Given the description of an element on the screen output the (x, y) to click on. 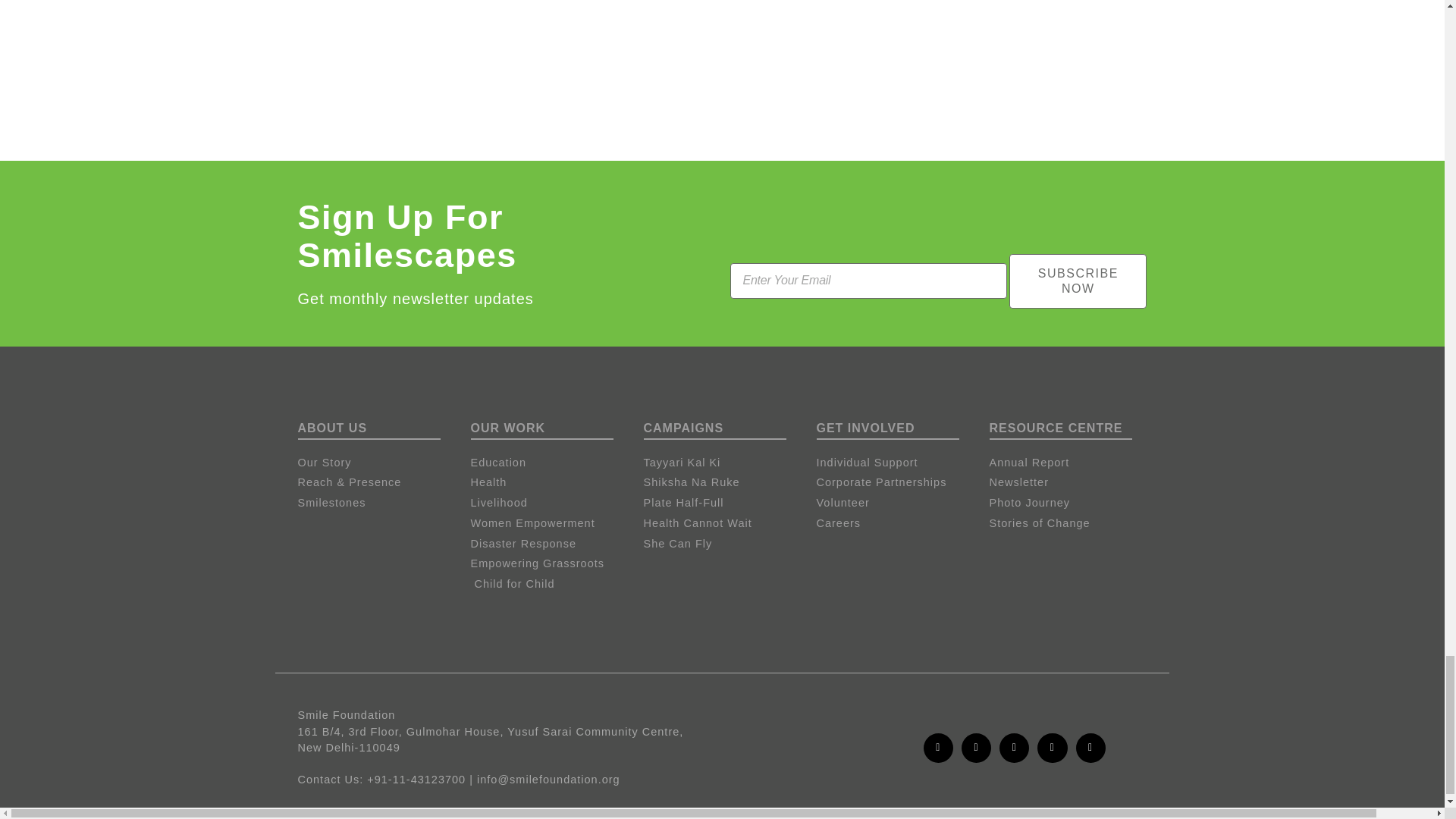
Health (548, 483)
Health Cannot Wait (721, 523)
Tayyari Kal Ki (721, 462)
Disaster Response (548, 544)
Individual Support (894, 462)
Education (548, 462)
Child for Child (548, 584)
Careers (894, 523)
Our Story (375, 462)
Annual Report (1067, 462)
